Given the description of an element on the screen output the (x, y) to click on. 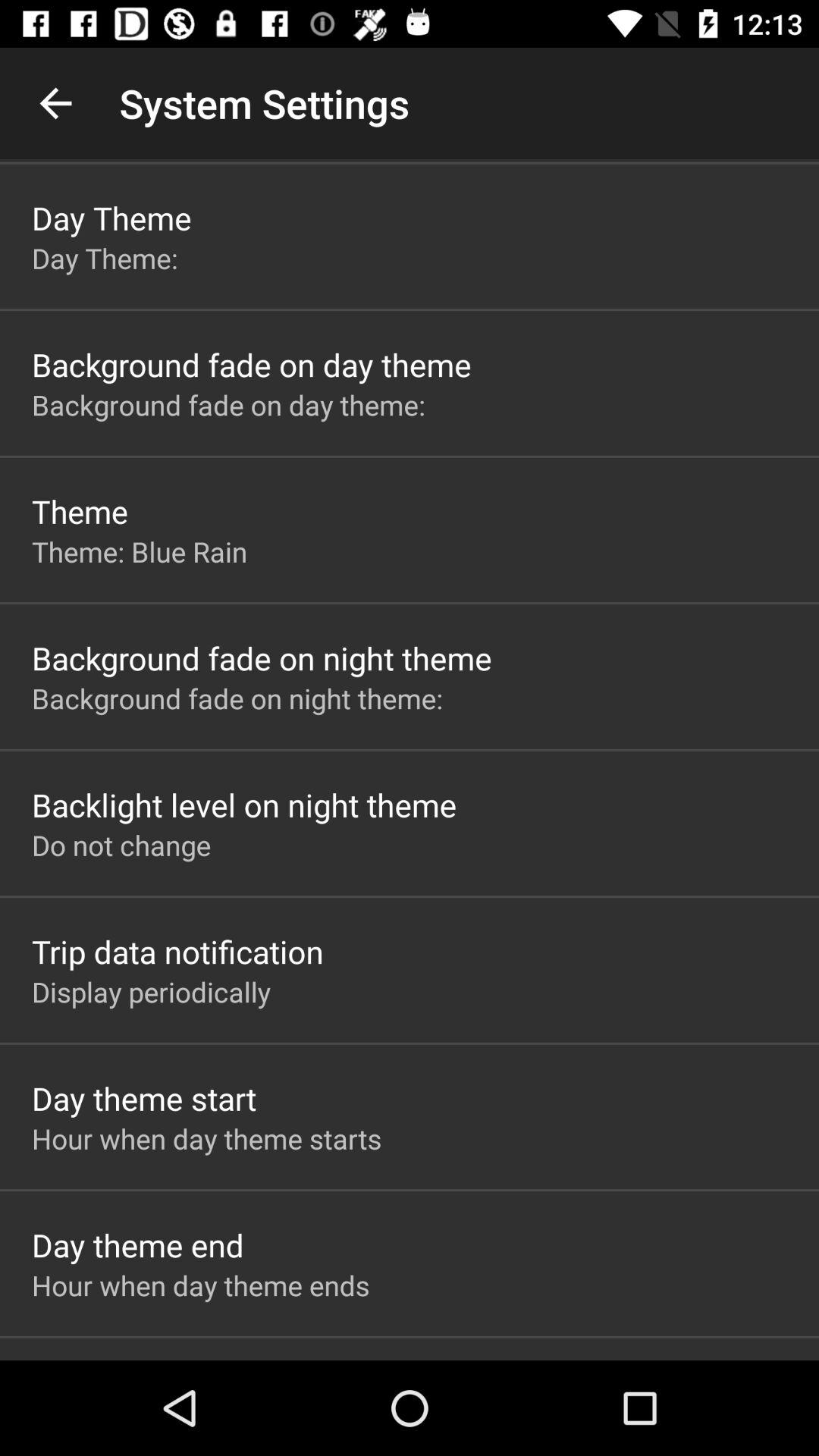
click the item to the left of the system settings (55, 103)
